Given the description of an element on the screen output the (x, y) to click on. 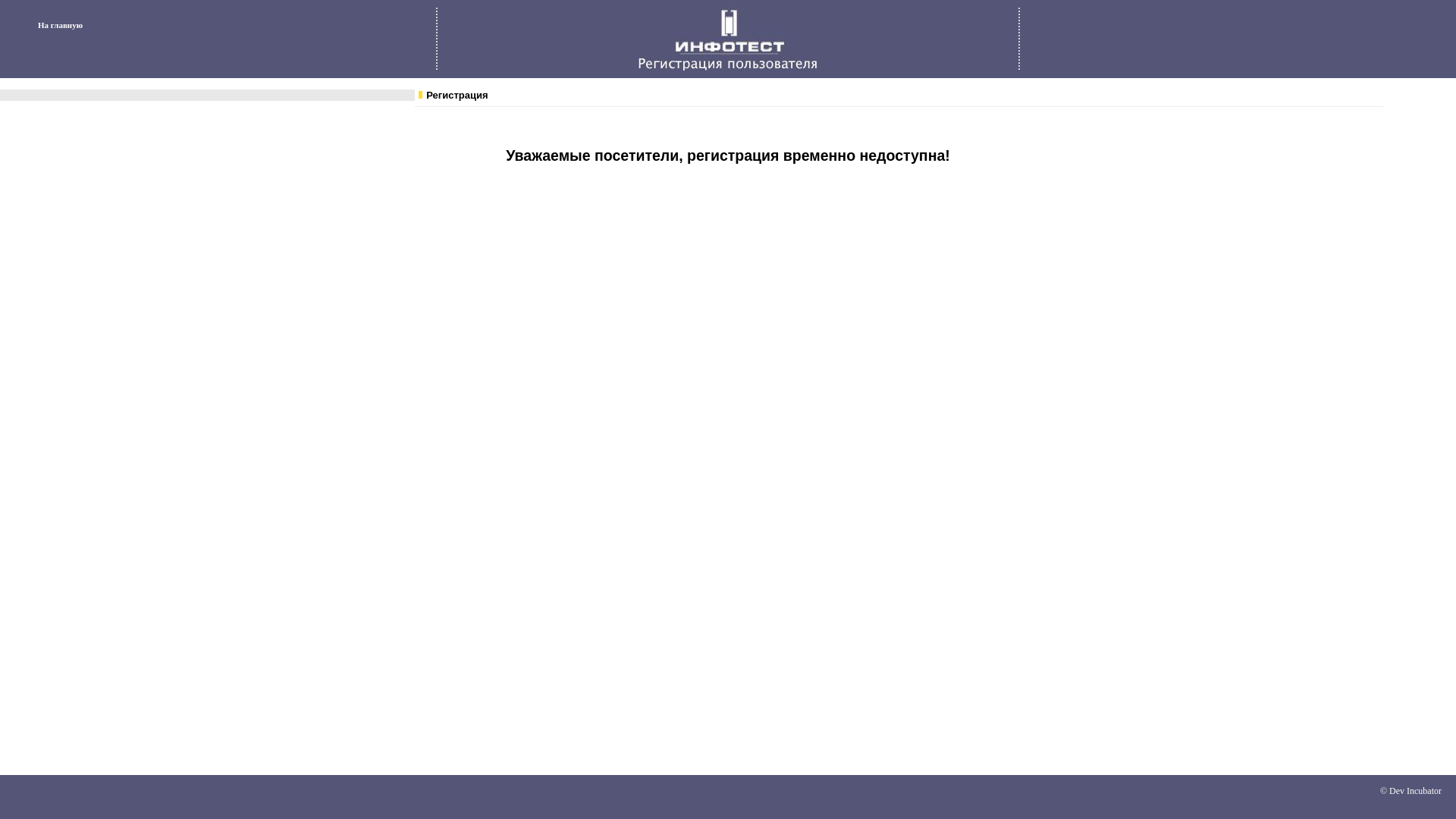
LiveInternet Element type: hover (1454, 796)
